Given the description of an element on the screen output the (x, y) to click on. 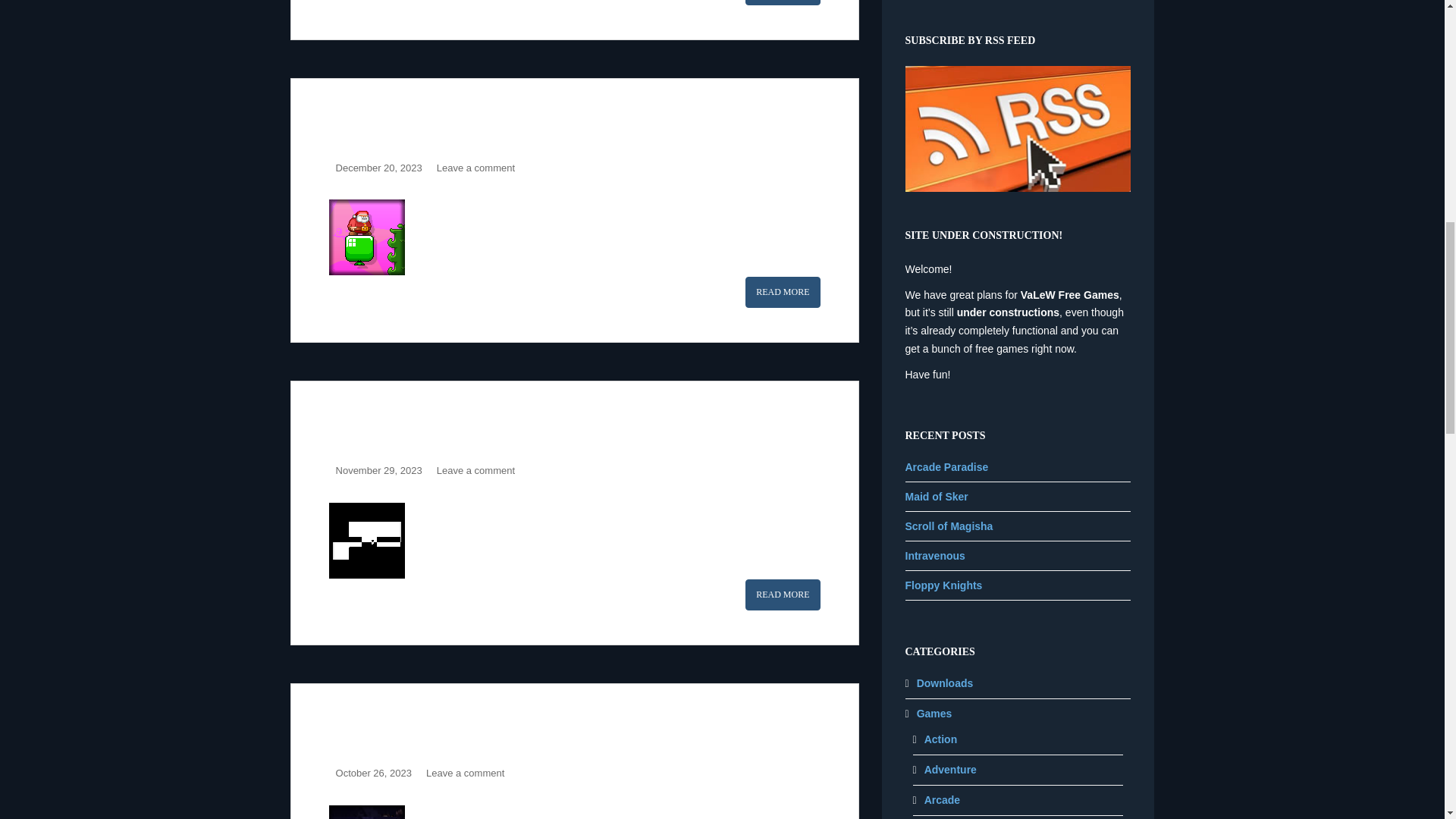
READ MORE (782, 2)
Lost Heroes (782, 2)
Leave a comment (464, 772)
December 20, 2023 (379, 167)
Leave a comment (475, 167)
Santa Run 3 (782, 291)
Through the Mirror (420, 426)
READ MORE (782, 594)
link to Through the Mirror (366, 540)
Santa Run 3 (385, 123)
Through the Mirror (782, 594)
Leave a comment (475, 470)
Tandem: a Tale of Shadows (452, 729)
October 26, 2023 (374, 772)
November 29, 2023 (379, 470)
